Given the description of an element on the screen output the (x, y) to click on. 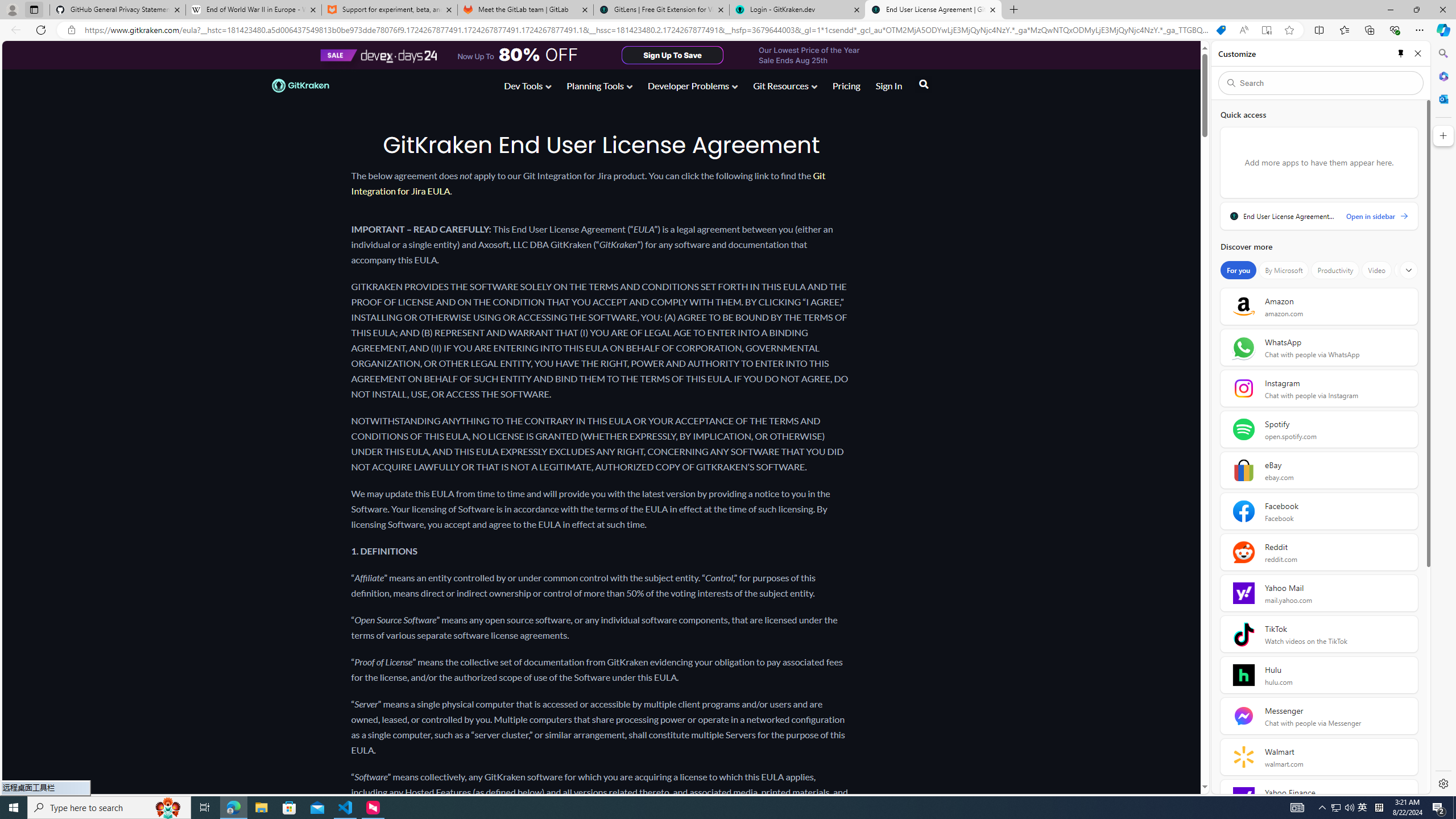
Sign In (888, 85)
GitLens | Free Git Extension for Visual Studio Code (660, 9)
Video (1376, 270)
For you (1238, 270)
Git Integration for Jira EULA (587, 183)
Sign In (888, 87)
